Given the description of an element on the screen output the (x, y) to click on. 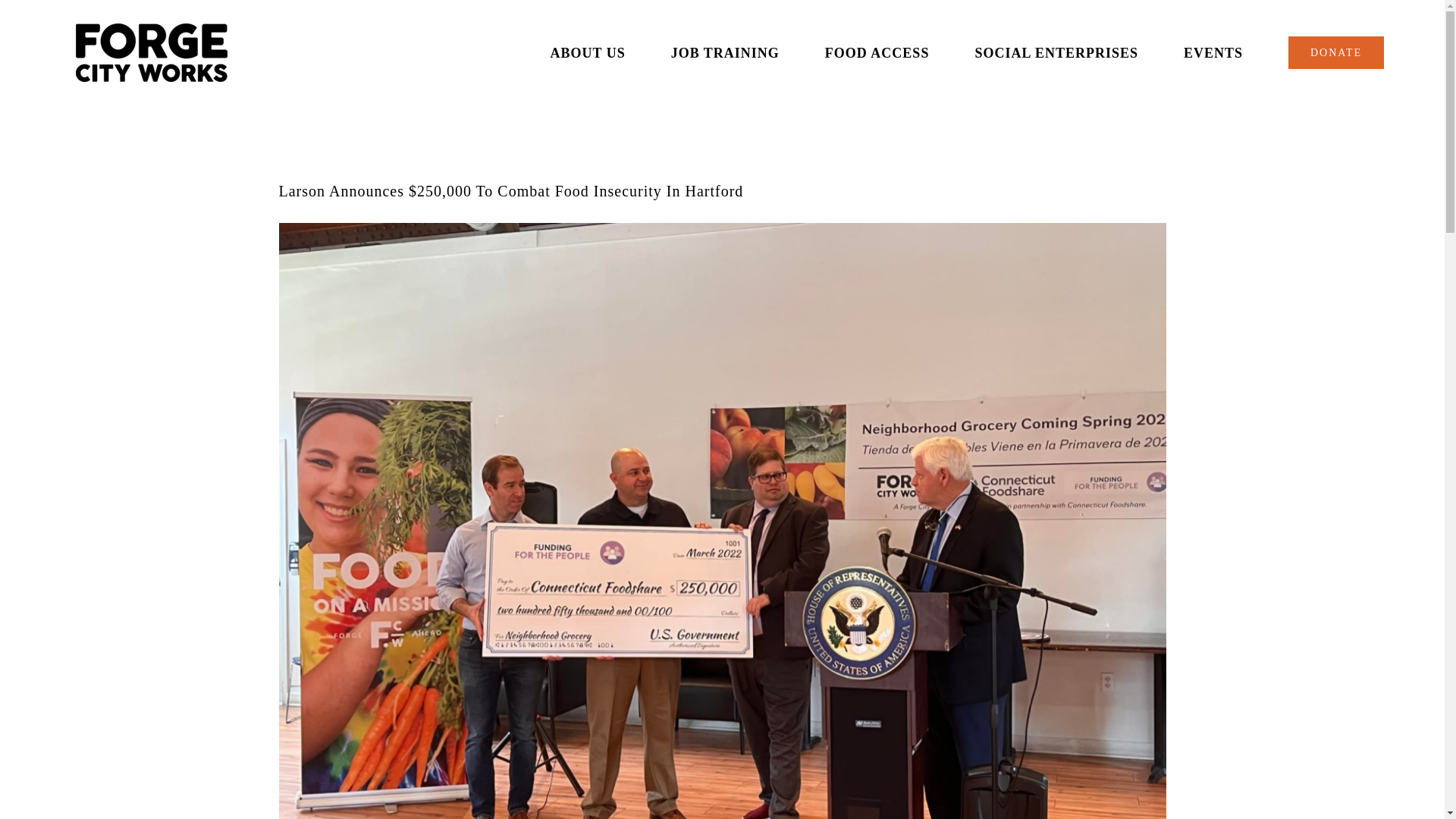
DONATE (1336, 52)
SOCIAL ENTERPRISES (1056, 52)
FOOD ACCESS (877, 52)
JOB TRAINING (724, 52)
